Given the description of an element on the screen output the (x, y) to click on. 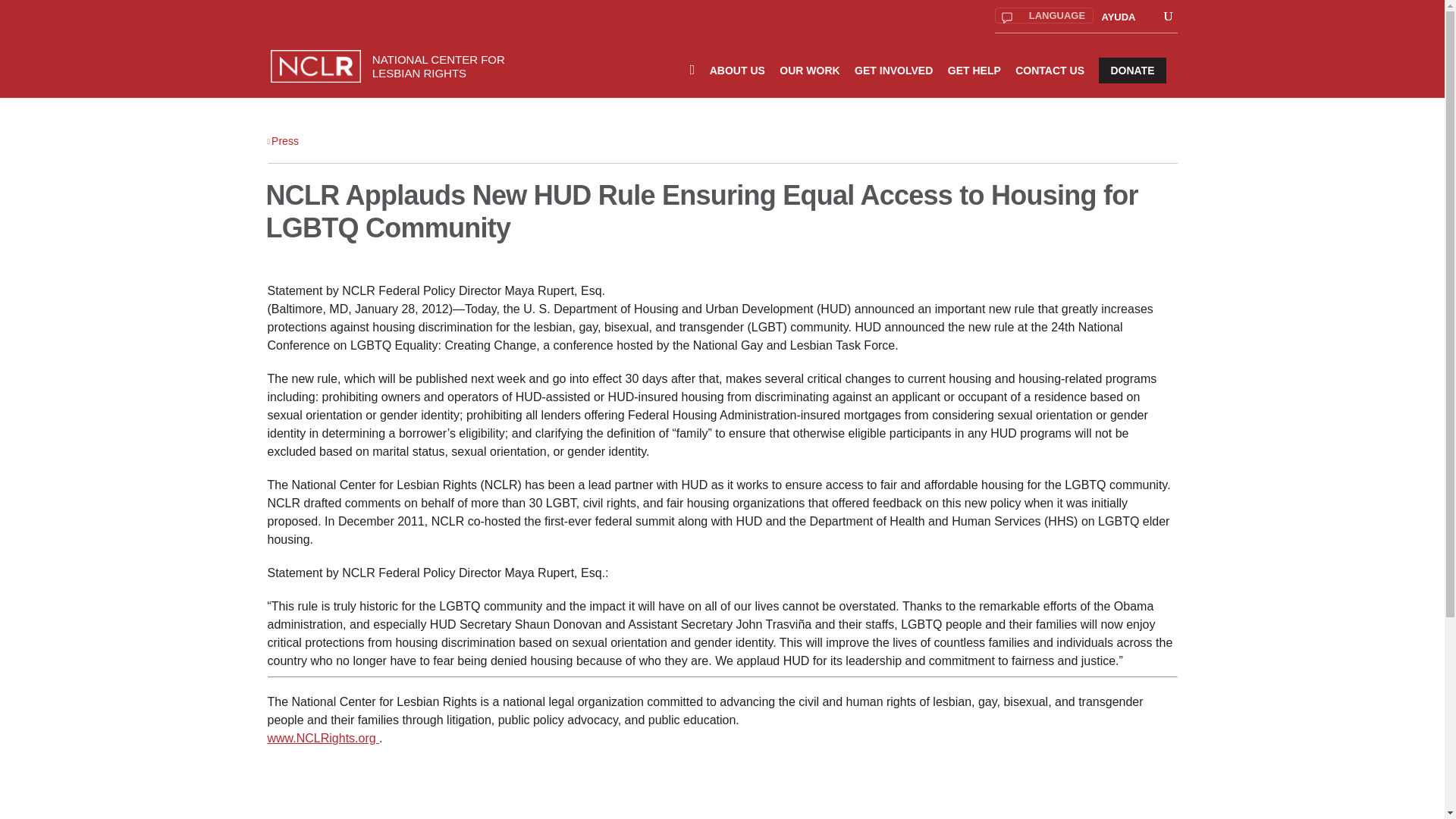
OUR WORK (809, 79)
GET INVOLVED (893, 79)
www.NCLRights.org  (322, 738)
